Given the description of an element on the screen output the (x, y) to click on. 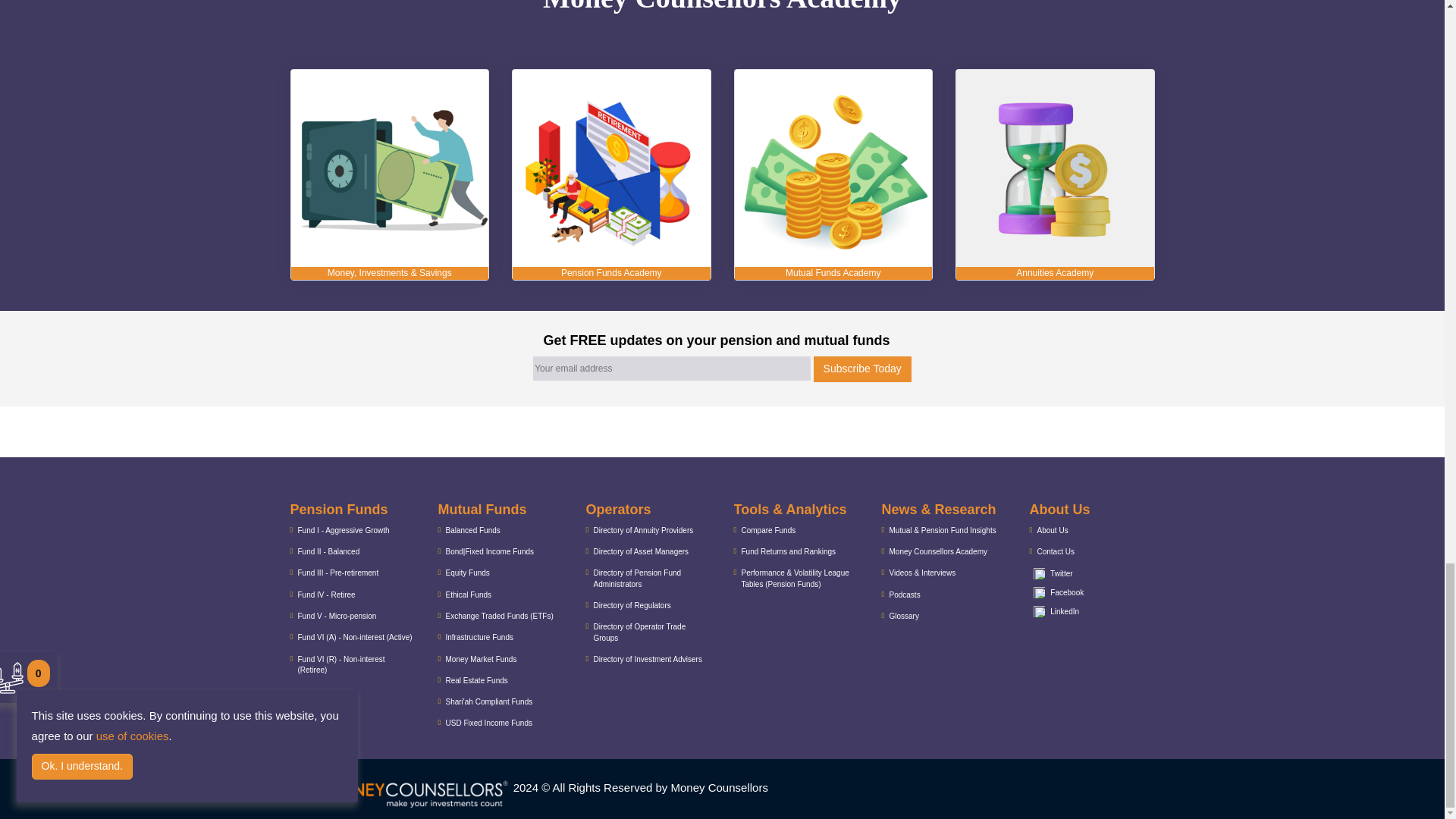
Subscribe Today (862, 369)
